Given the description of an element on the screen output the (x, y) to click on. 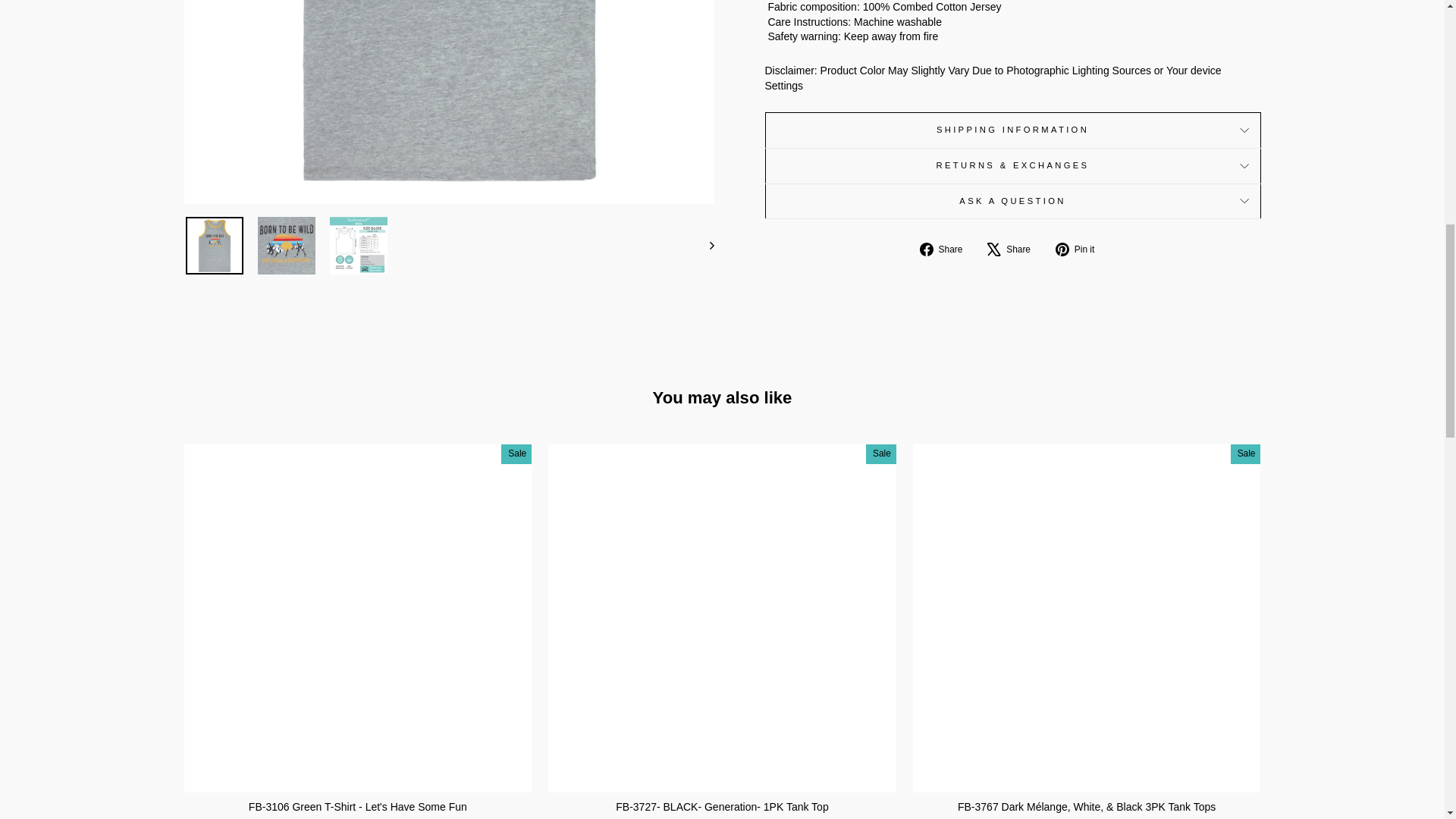
Tweet on X (1014, 249)
Pin on Pinterest (1080, 249)
Share on Facebook (947, 249)
